Given the description of an element on the screen output the (x, y) to click on. 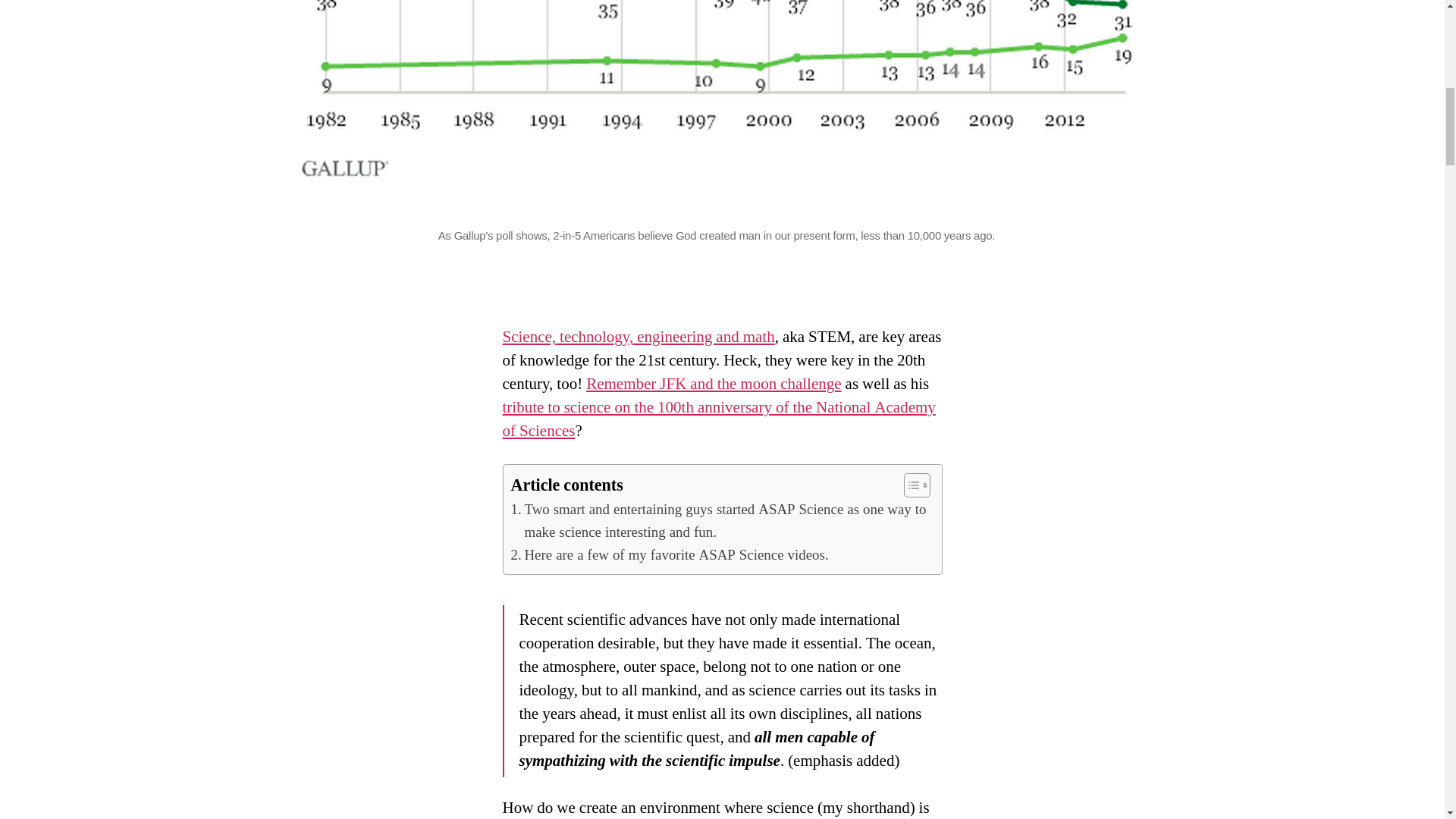
Here are a few of my favorite ASAP Science videos. (669, 554)
